Given the description of an element on the screen output the (x, y) to click on. 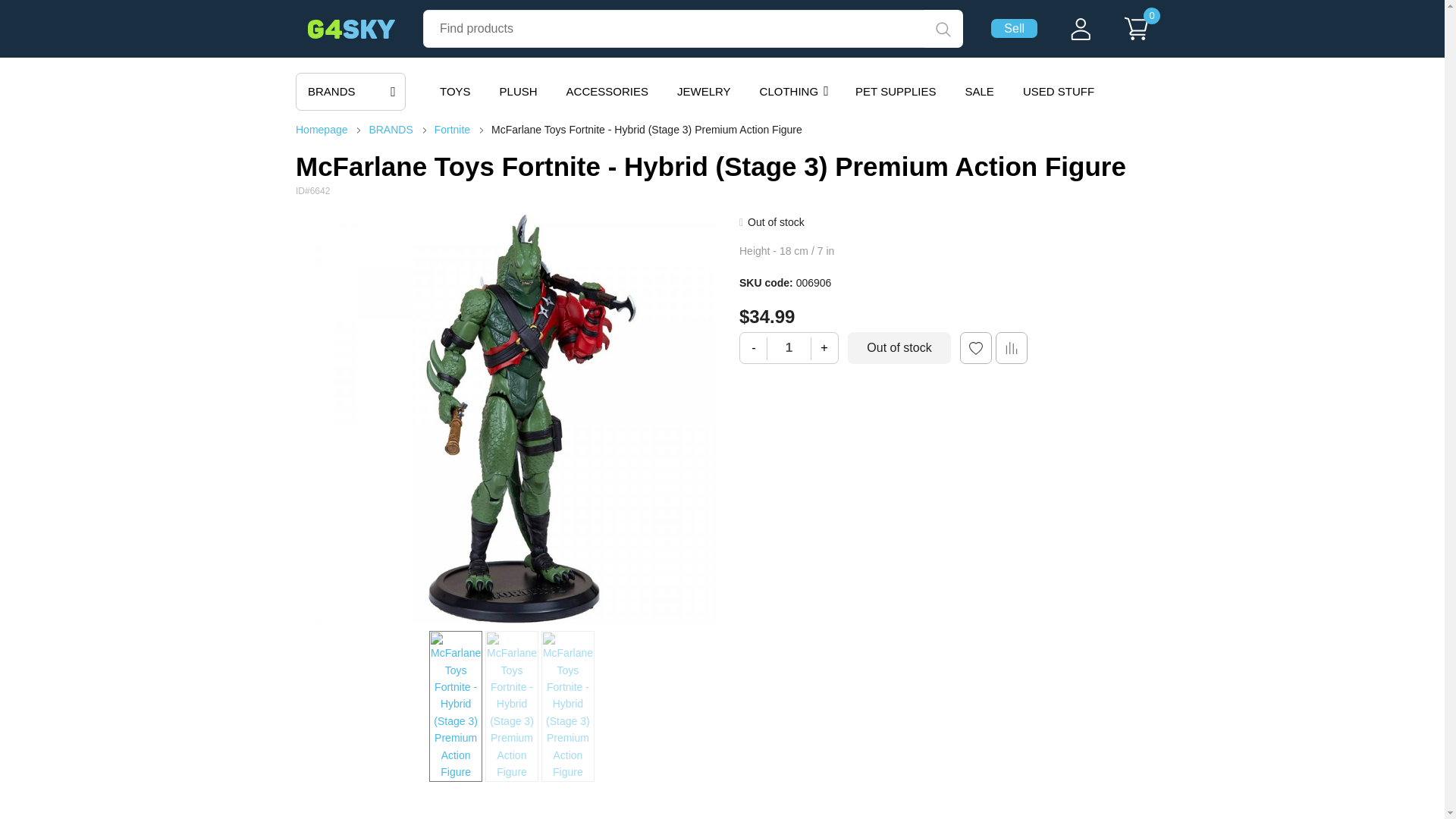
Sell (1013, 27)
1 (788, 347)
CLOTHING (794, 91)
JEWELRY (703, 91)
0 (1136, 39)
PLUSH (518, 91)
BRANDS (350, 91)
ACCESSORIES (607, 91)
TOYS (455, 91)
